Given the description of an element on the screen output the (x, y) to click on. 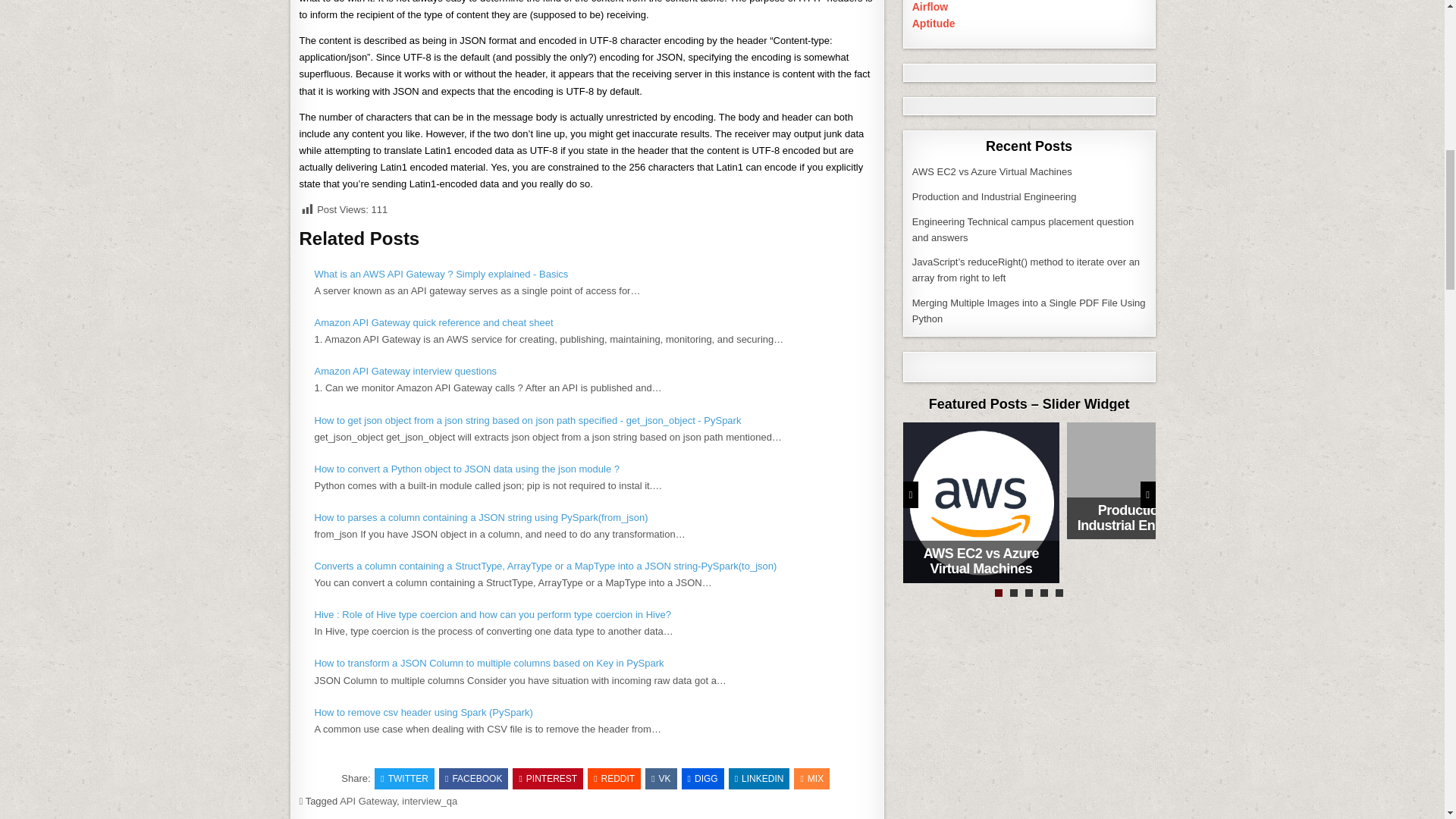
FACEBOOK (473, 778)
Share this on Facebook (473, 778)
PINTEREST (547, 778)
Share this on Linkedin (759, 778)
Amazon API Gateway interview questions (405, 370)
LINKEDIN (759, 778)
Share this on Digg (702, 778)
MIX (811, 778)
What is an AWS API Gateway ? Simply explained - Basics (440, 274)
Share this on Pinterest (547, 778)
DIGG (702, 778)
API Gateway (367, 800)
Share this on VK (661, 778)
Tweet This! (403, 778)
